Given the description of an element on the screen output the (x, y) to click on. 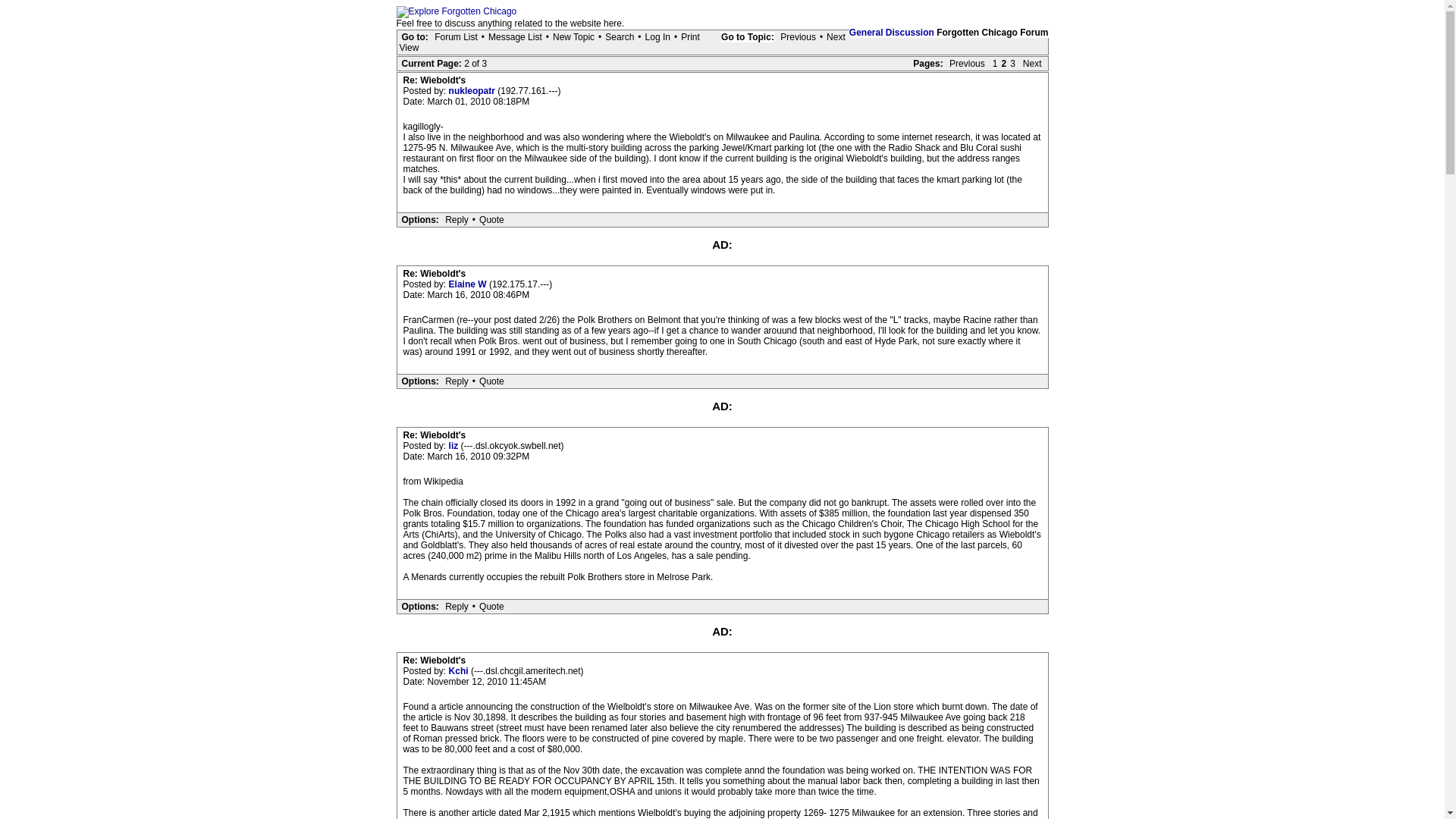
Previous (797, 37)
Kchi (459, 670)
Reply (456, 606)
Quote (492, 219)
liz (454, 445)
Next (1032, 63)
Quote (492, 606)
1 (994, 63)
Search (619, 37)
Print View (548, 42)
Log In (658, 37)
Reply (456, 219)
Previous (966, 63)
Message List (515, 37)
General Discussion (891, 32)
